Given the description of an element on the screen output the (x, y) to click on. 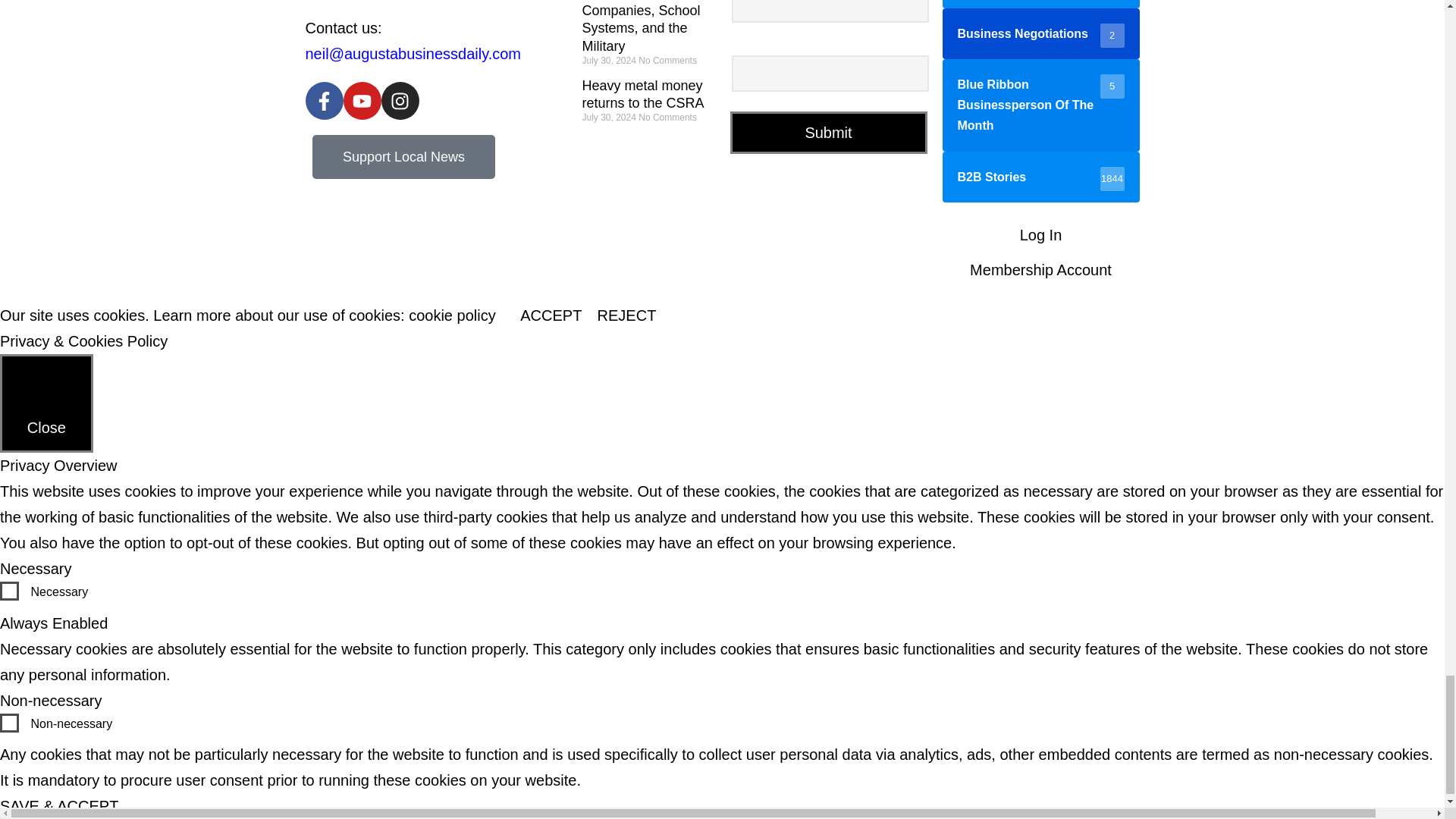
on (9, 722)
on (9, 590)
